Given the description of an element on the screen output the (x, y) to click on. 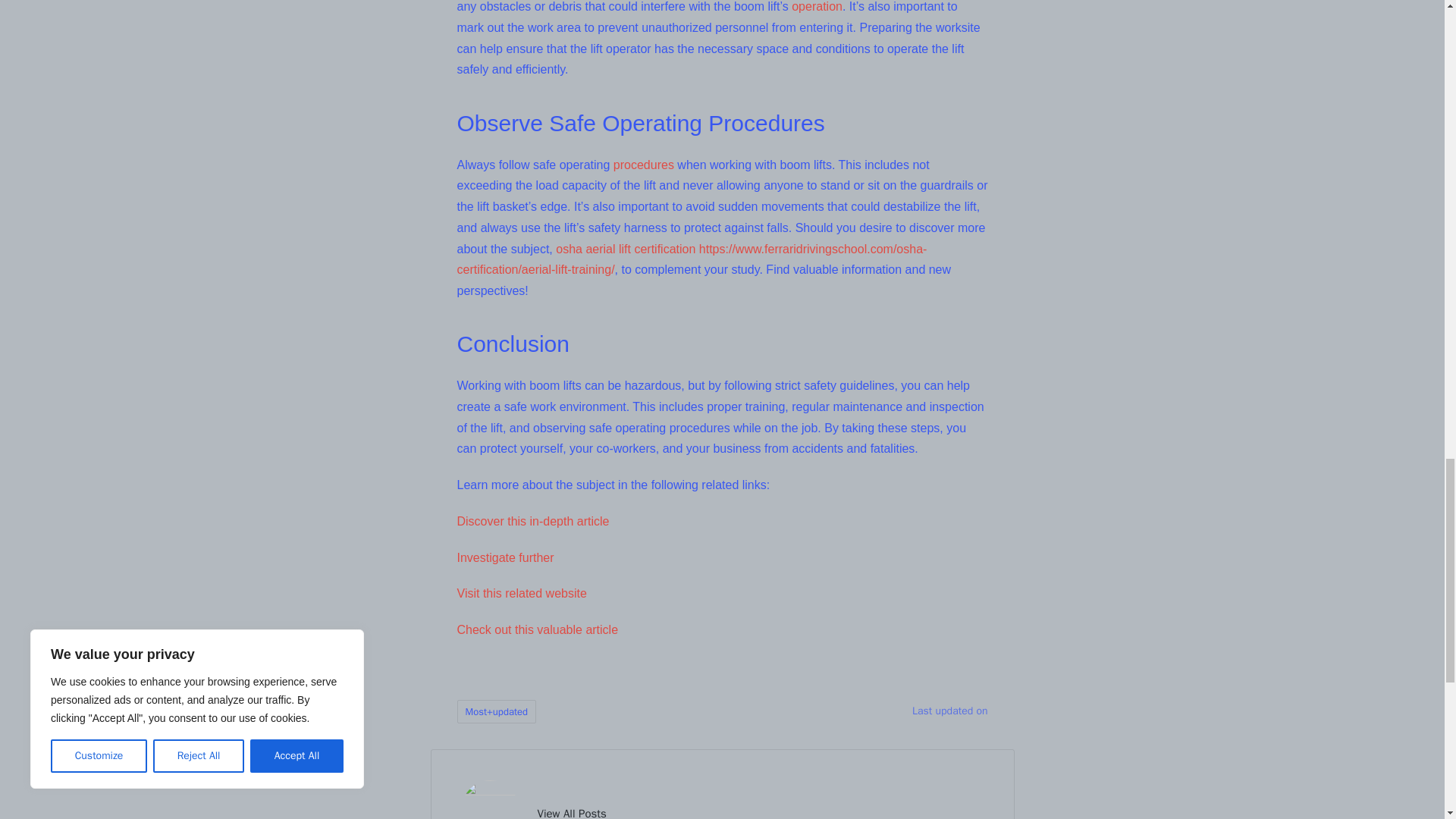
View All Posts (571, 811)
operation (817, 6)
procedures (643, 164)
Discover this in-depth article (532, 521)
Investigate further (505, 557)
Visit this related website (521, 593)
Check out this valuable article (537, 629)
